Given the description of an element on the screen output the (x, y) to click on. 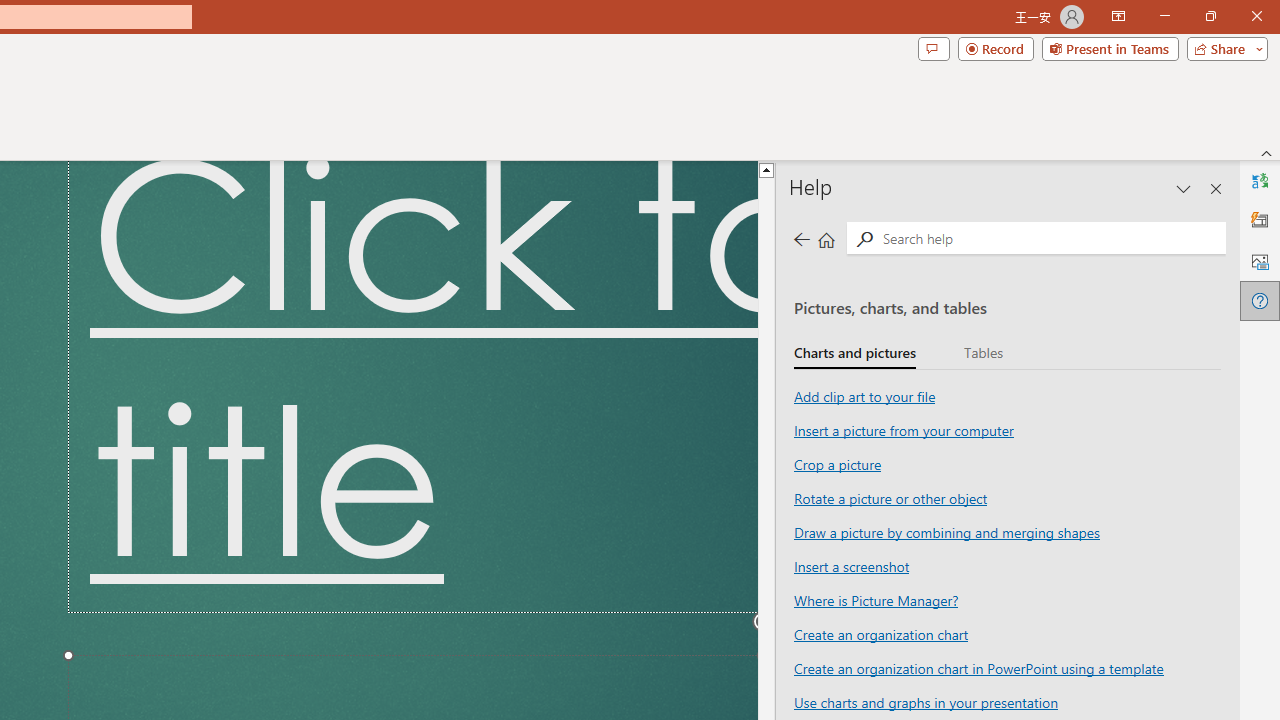
Draw a picture by combining and merging shapes (946, 531)
Where is Picture Manager? (875, 600)
Rotate a picture or other object (889, 497)
Create an organization chart in PowerPoint using a template (978, 667)
Add clip art to your file (863, 395)
Use charts and graphs in your presentation (925, 701)
